Given the description of an element on the screen output the (x, y) to click on. 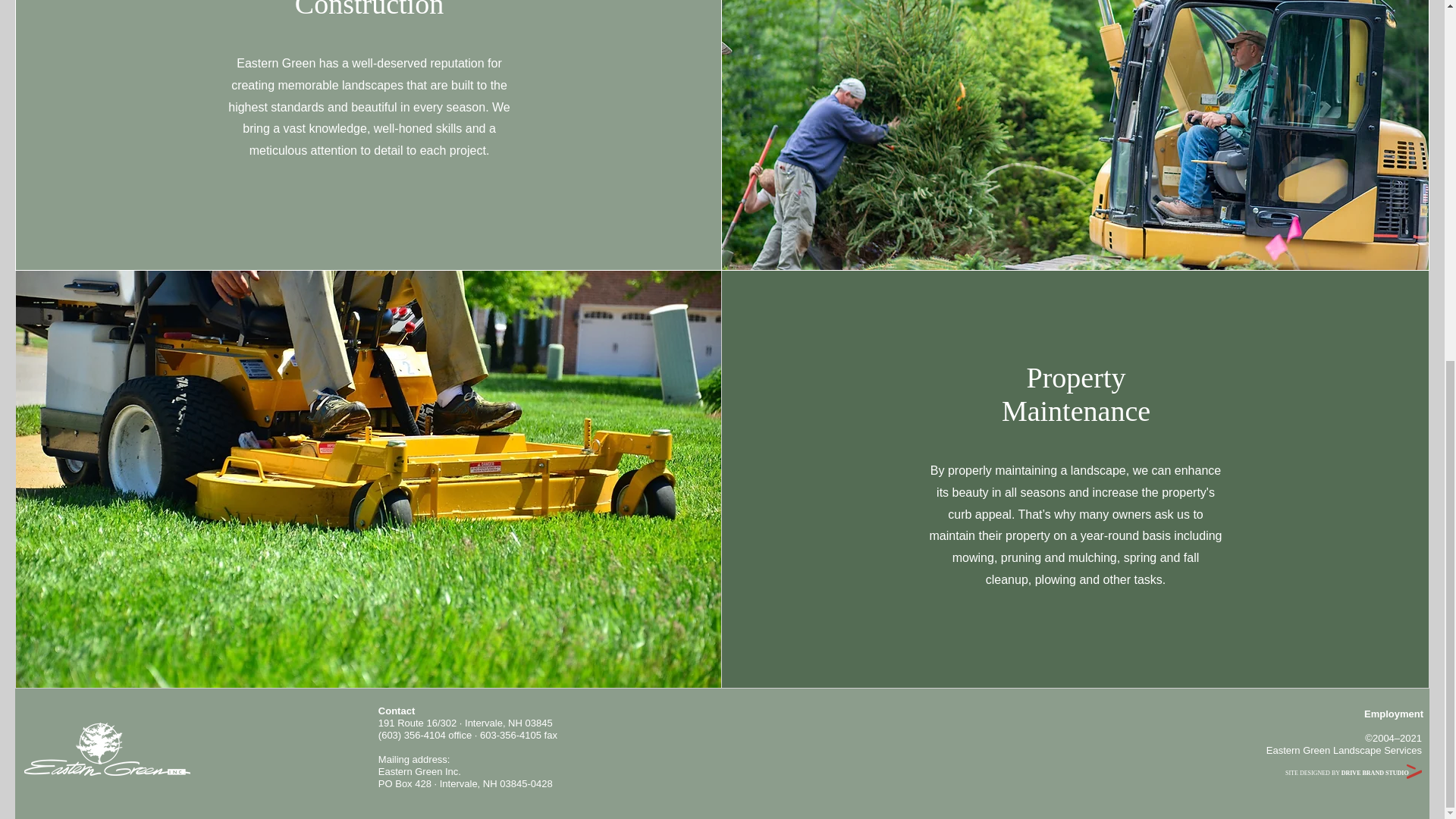
SITE DESIGNED BY DRIVE BRAND STUDIO (1347, 772)
Employment (1393, 713)
Contact (396, 710)
